Given the description of an element on the screen output the (x, y) to click on. 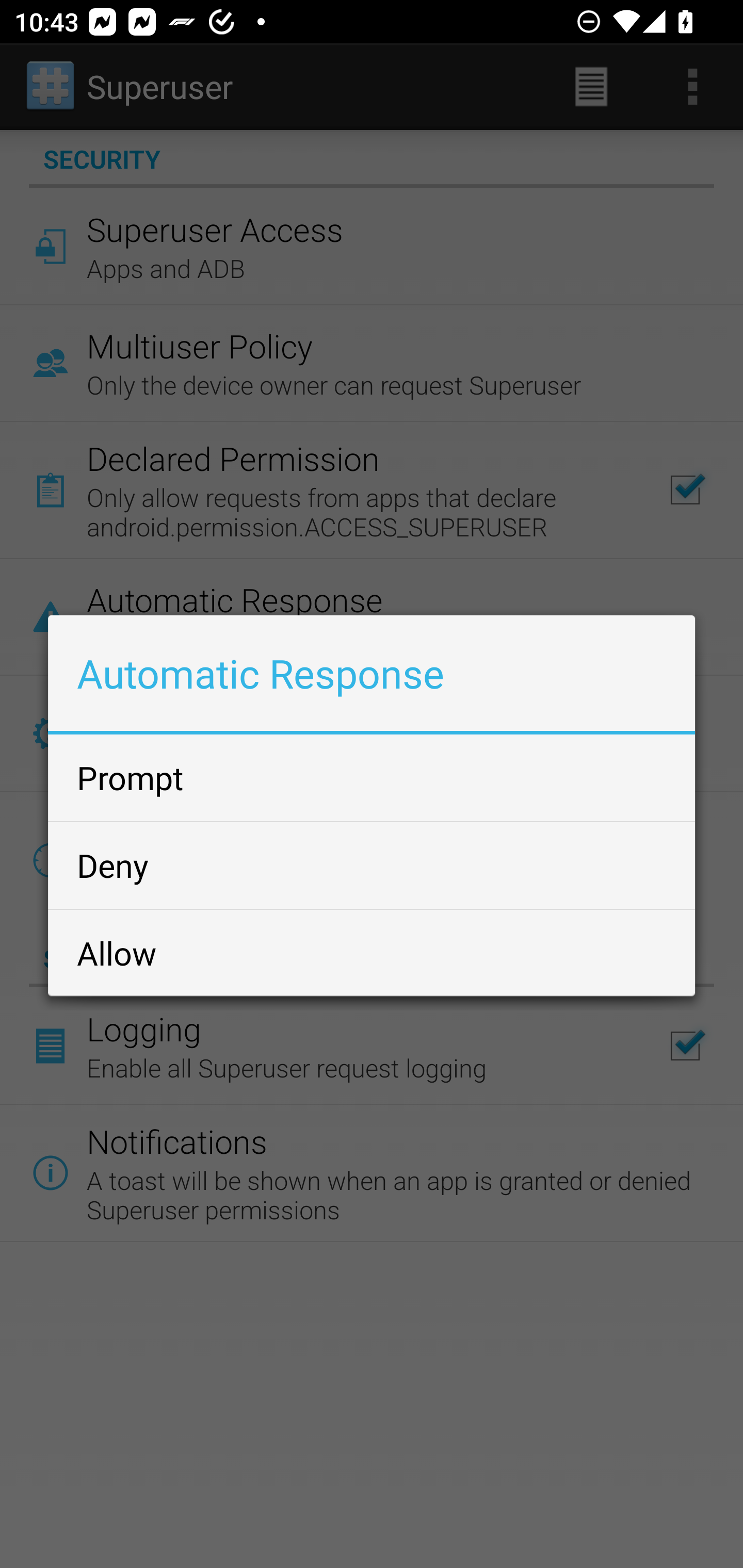
Prompt (371, 777)
Deny (371, 865)
Allow (371, 952)
